Given the description of an element on the screen output the (x, y) to click on. 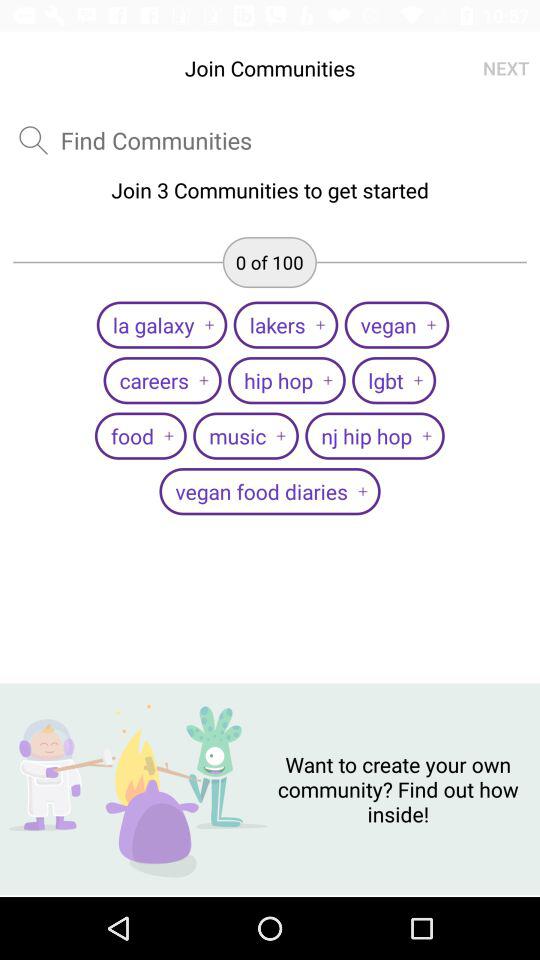
search (156, 140)
